Given the description of an element on the screen output the (x, y) to click on. 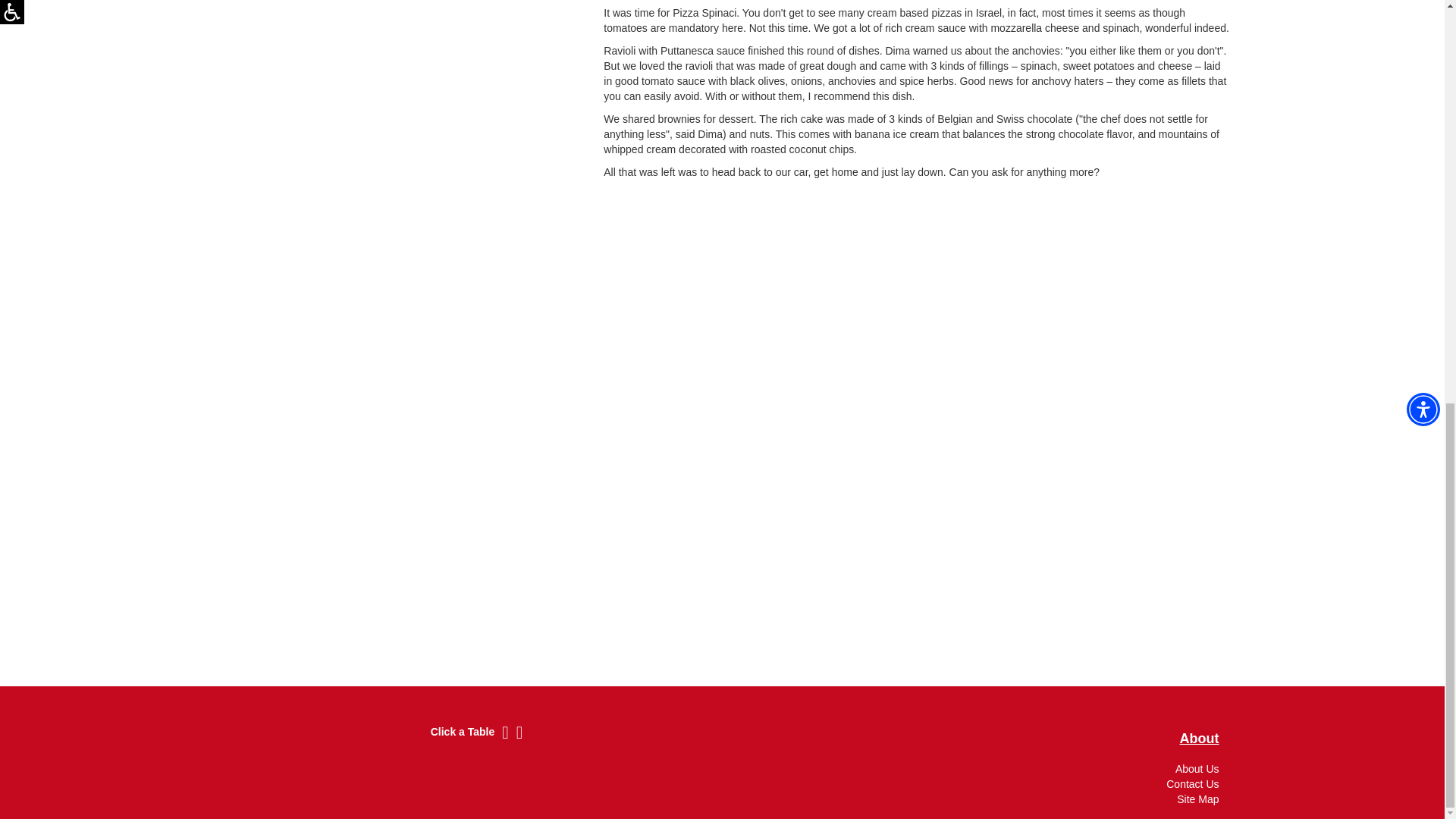
Contact Us (1192, 784)
About Us (1197, 768)
Site Map (1197, 799)
Click a Table (462, 731)
